Given the description of an element on the screen output the (x, y) to click on. 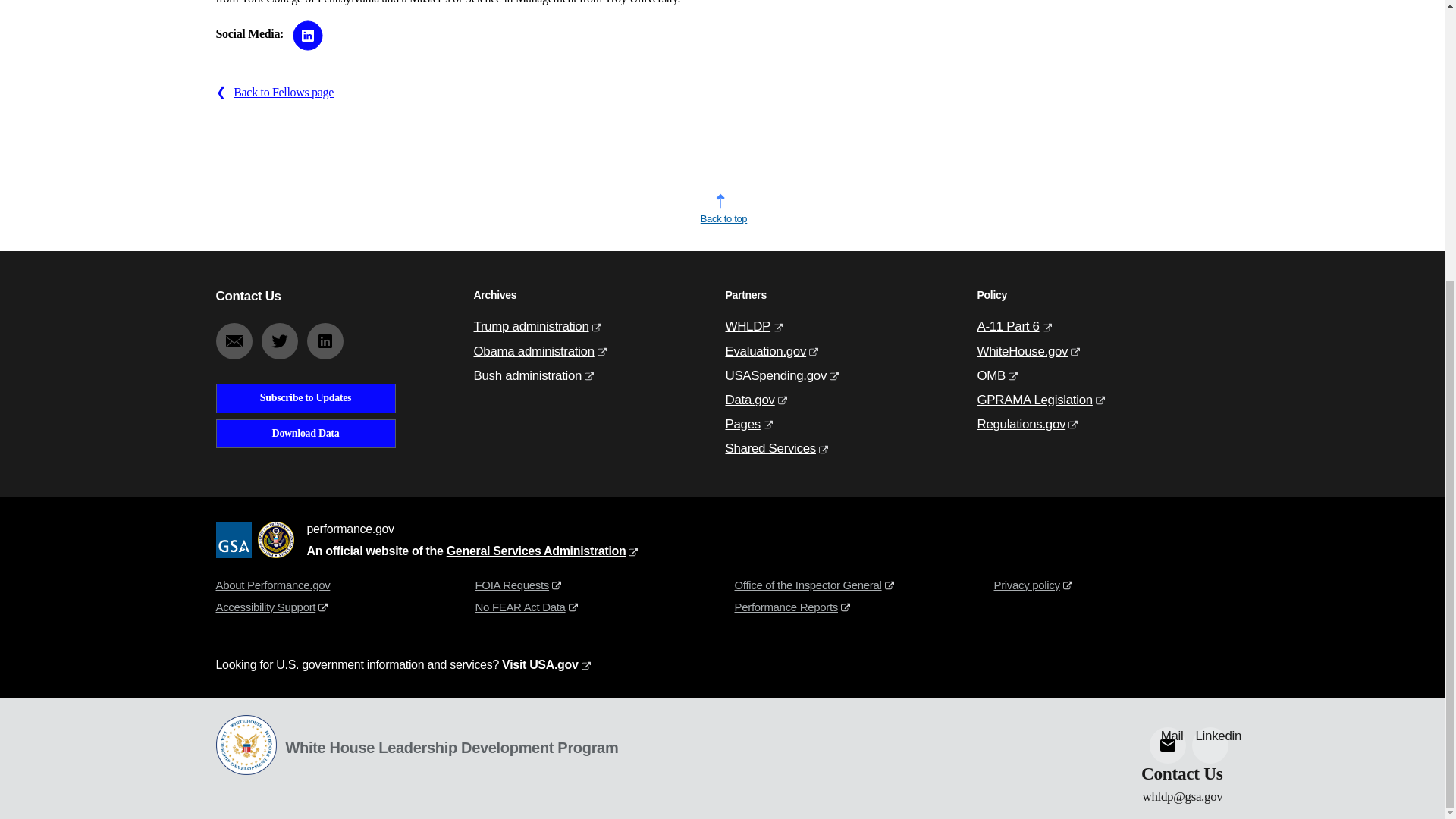
WHLDP (747, 326)
Pages (742, 423)
OMB (991, 375)
Back to Fellows page (282, 91)
Bush administration (526, 375)
A-11 Part 6 (1007, 326)
Trump administration (530, 326)
Evaluation.gov (765, 350)
Obama administration (533, 350)
USASpending.gov (776, 375)
